Given the description of an element on the screen output the (x, y) to click on. 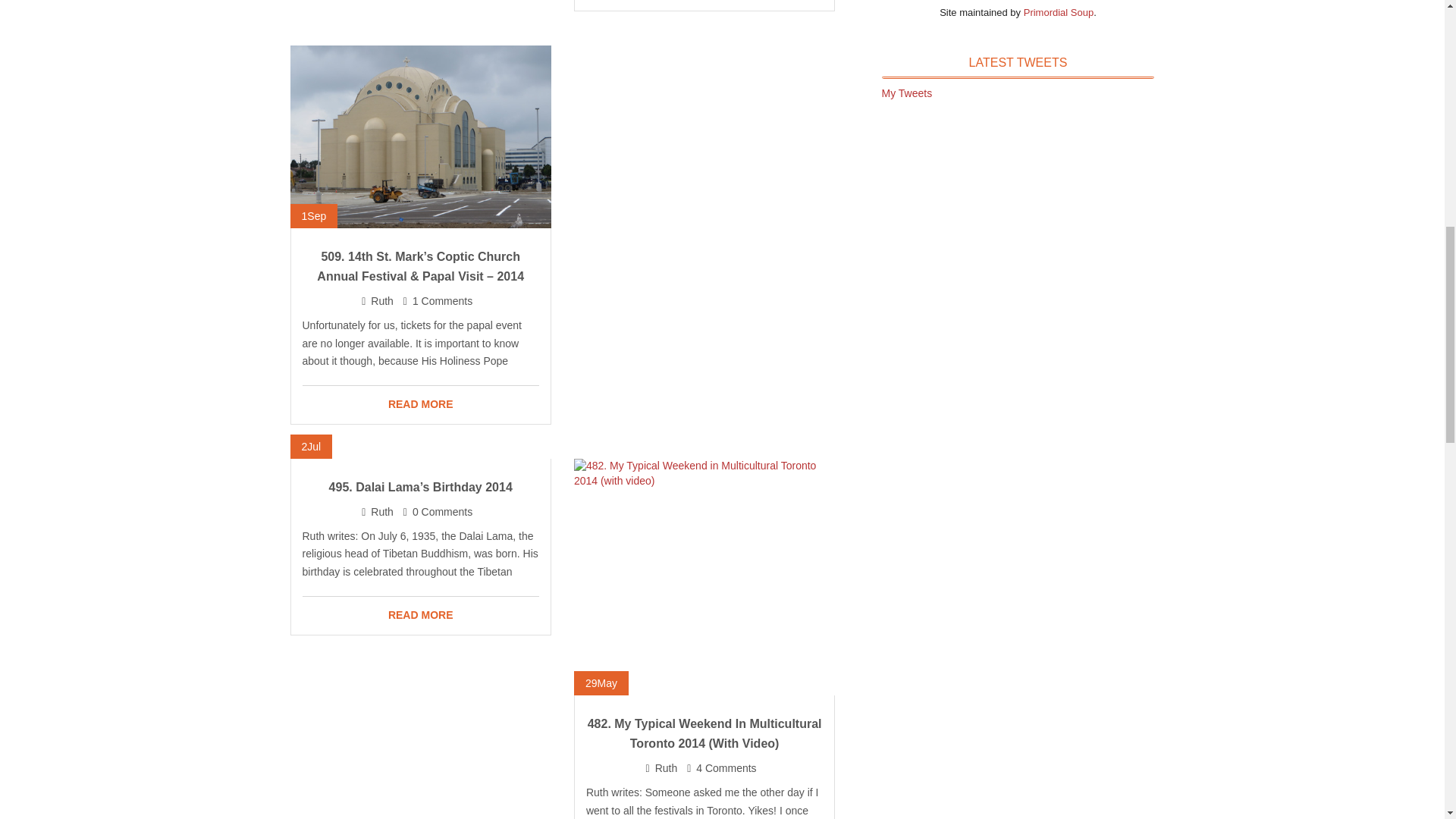
READ MORE (420, 404)
1 Comments (441, 300)
Ruth (382, 511)
READ MORE (420, 615)
Ruth (666, 767)
0 Comments (441, 511)
Ruth (382, 300)
